Given the description of an element on the screen output the (x, y) to click on. 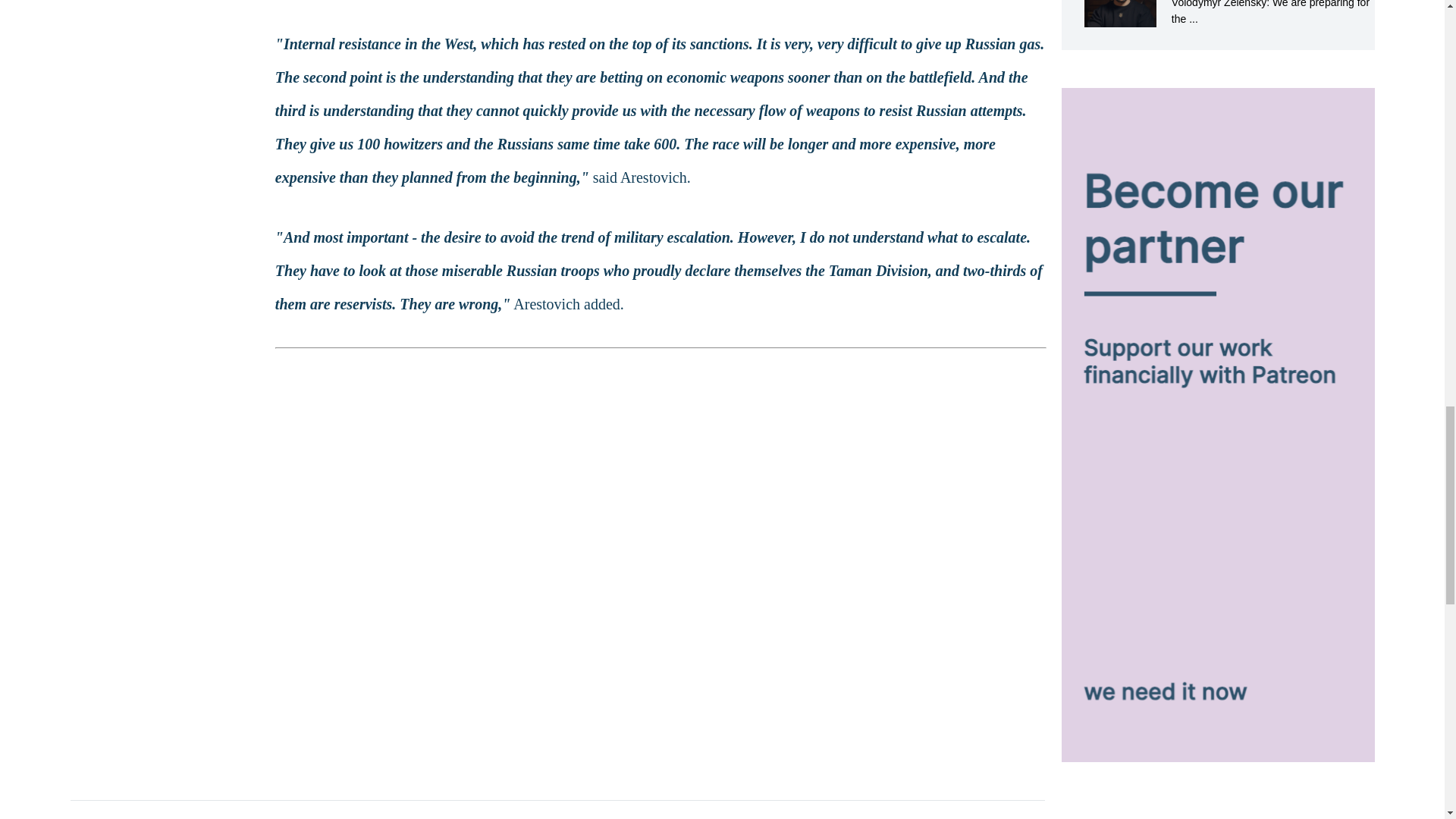
Read (1218, 13)
